Given the description of an element on the screen output the (x, y) to click on. 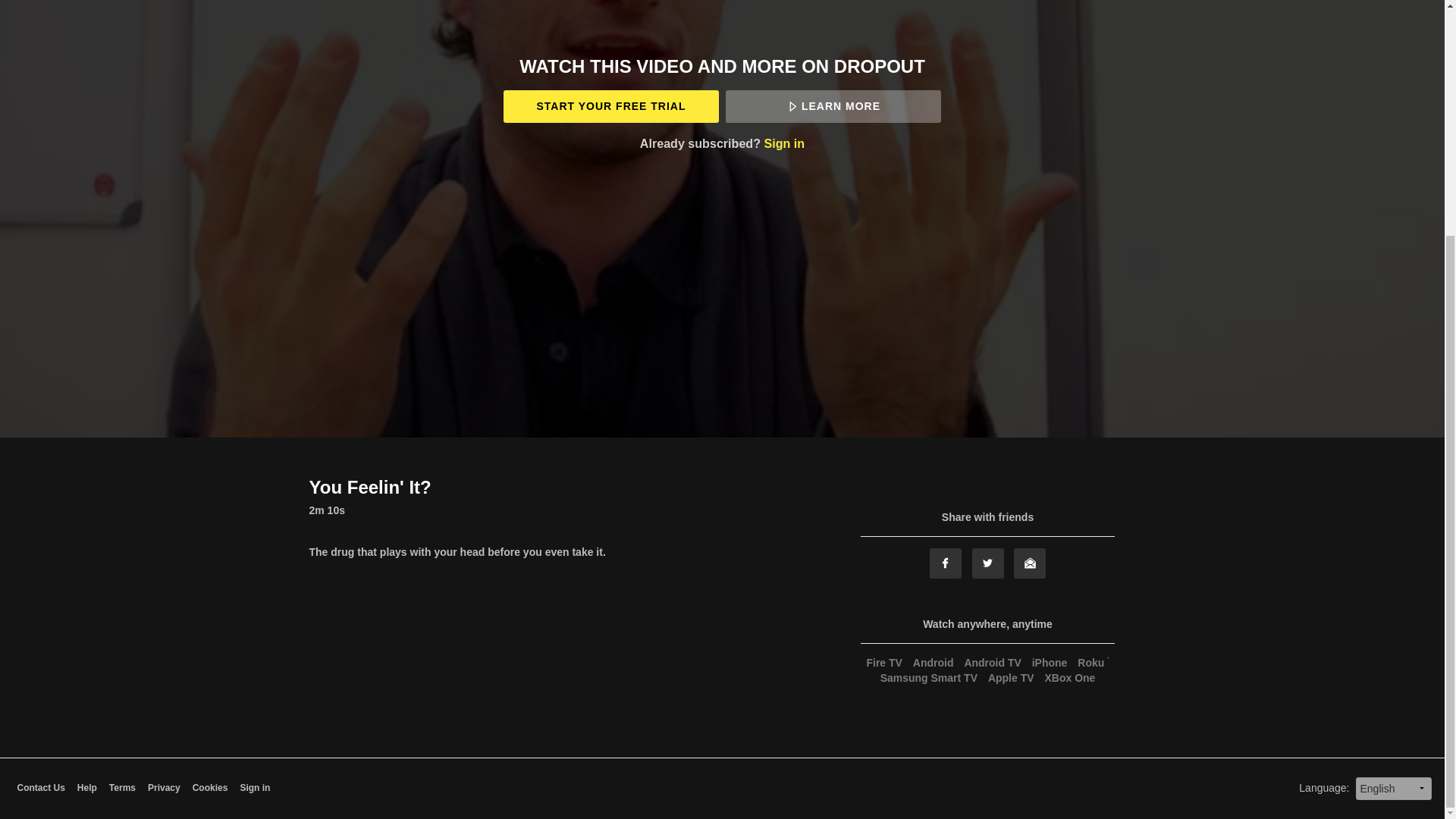
Fire TV (883, 662)
START YOUR FREE TRIAL (610, 106)
Cookies (210, 788)
iPhone (1049, 662)
XBox One (1070, 677)
Privacy (164, 788)
Samsung Smart TV (928, 677)
Android (933, 662)
Apple TV (1011, 677)
Facebook (945, 562)
Contact Us (40, 788)
Android TV (992, 662)
Twitter (988, 562)
Sign in (254, 788)
LEARN MORE (832, 106)
